Given the description of an element on the screen output the (x, y) to click on. 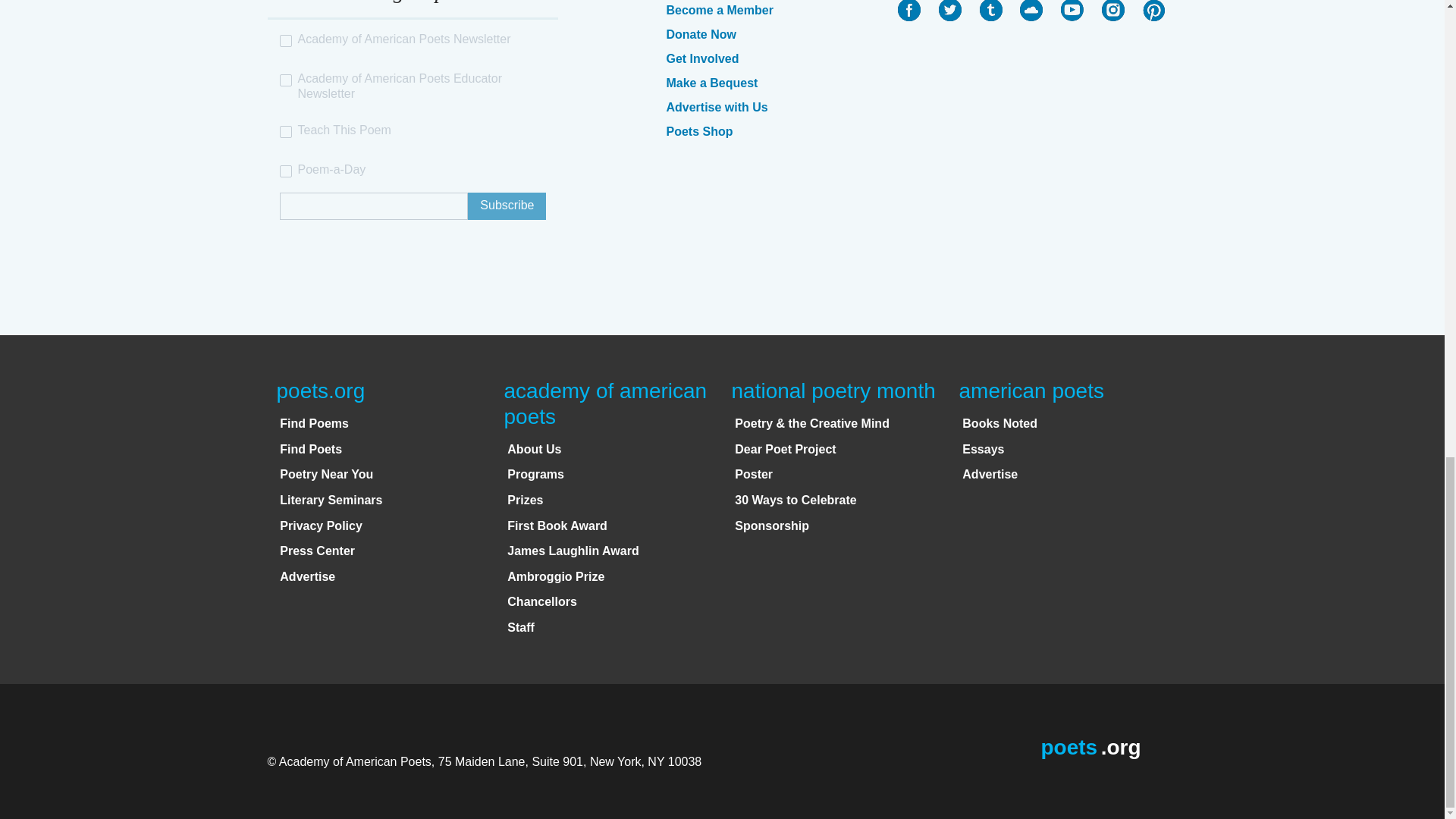
Advertise (306, 576)
Twitter (949, 10)
Subscribe (506, 206)
Facebook (909, 10)
Poetry Near You (325, 473)
Poets Shop (698, 131)
Privacy Policy (320, 525)
Become a Member (719, 10)
Make a Bequest (711, 82)
Press Center (317, 550)
